Given the description of an element on the screen output the (x, y) to click on. 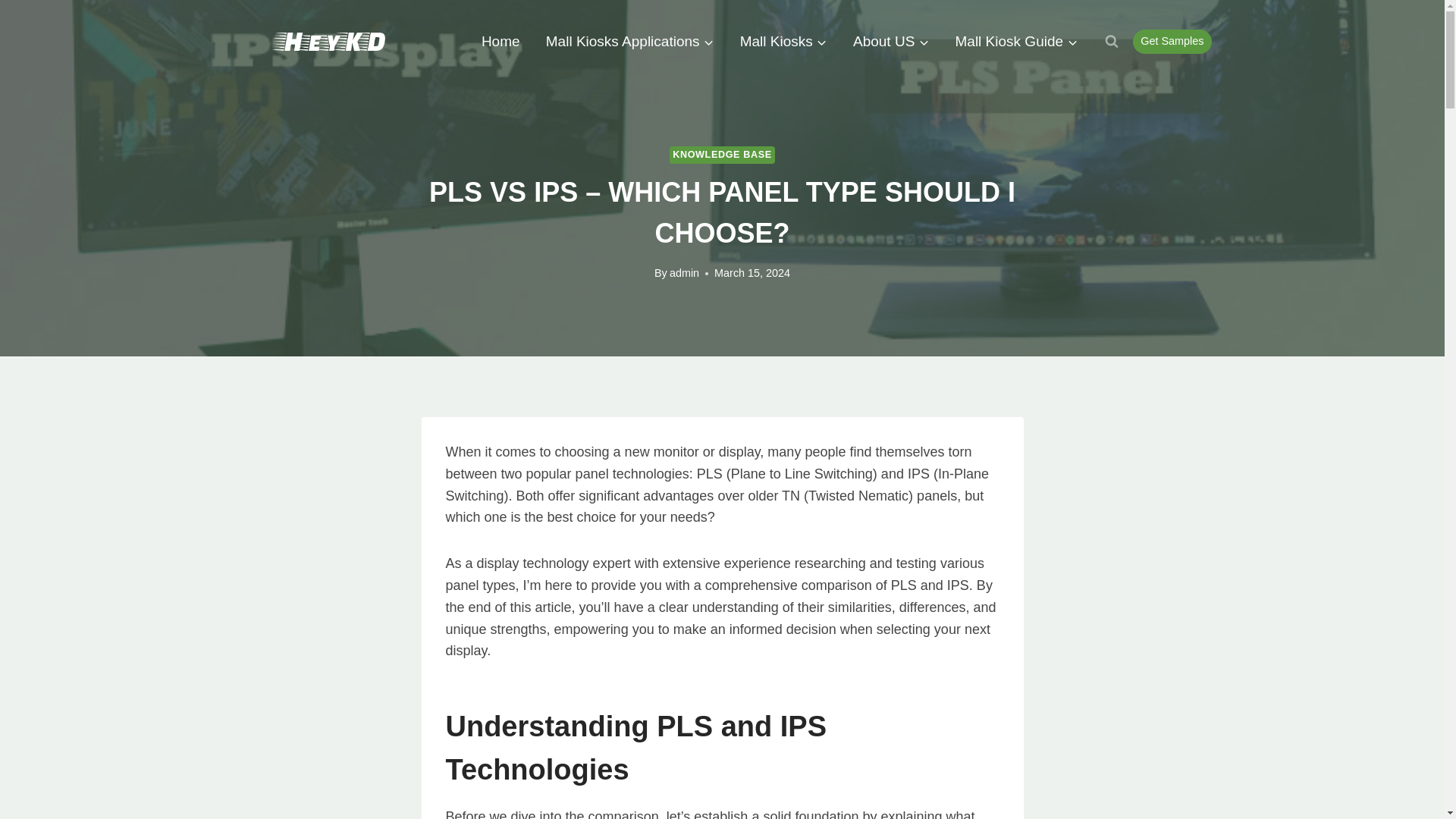
Mall Kiosks Applications (629, 41)
About US (891, 41)
Mall Kiosk Guide (1016, 41)
Home (500, 41)
Mall Kiosks (783, 41)
